Given the description of an element on the screen output the (x, y) to click on. 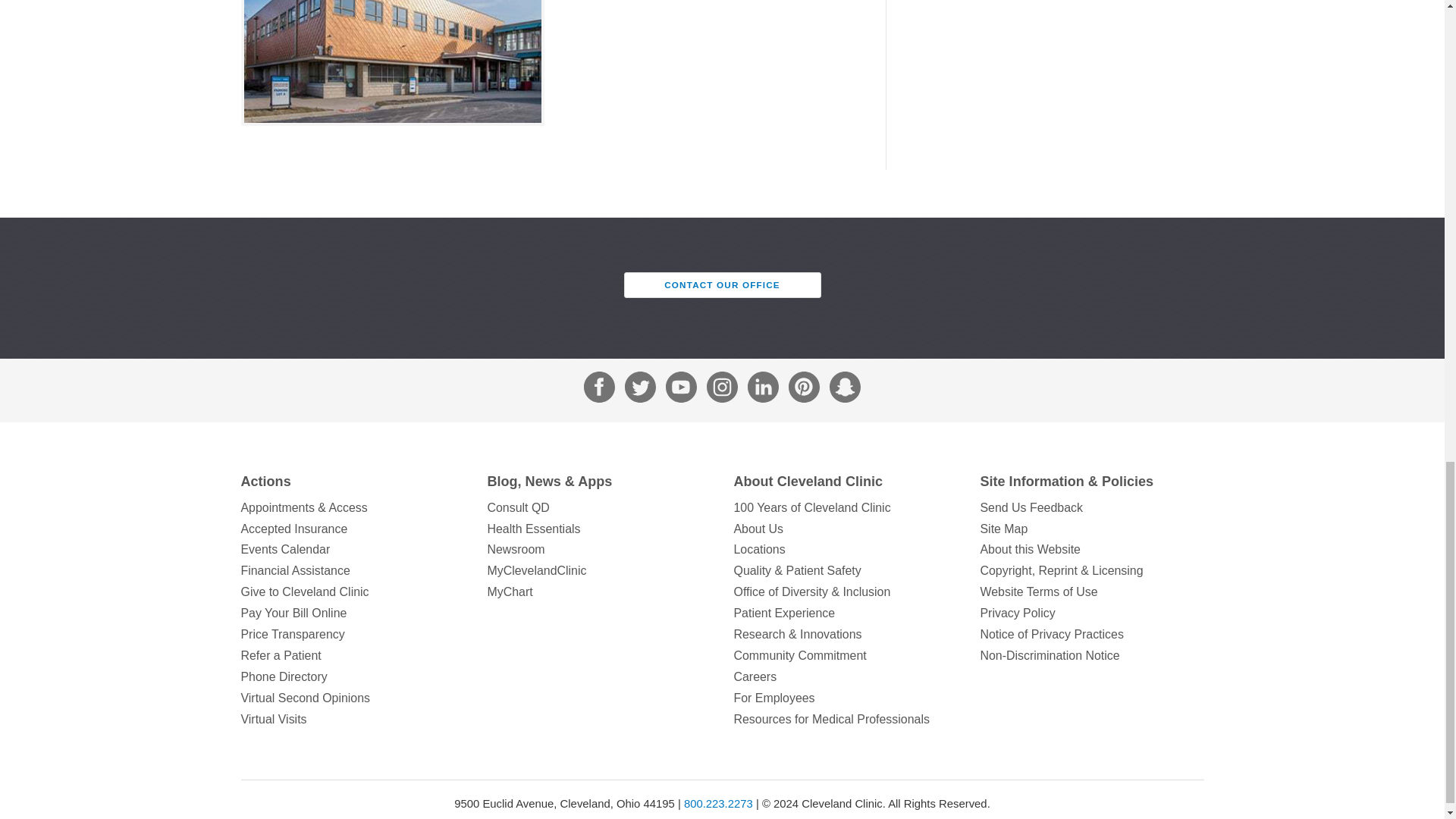
Consult QD (598, 507)
Careers (845, 677)
Health Essentials (598, 529)
Price Transparency (352, 634)
Pay Your Bill (352, 613)
Phone Directory (352, 677)
Send Us Feedback (1091, 507)
Accepted Insurance (352, 529)
Newsroom (598, 549)
Appointments (352, 507)
